Given the description of an element on the screen output the (x, y) to click on. 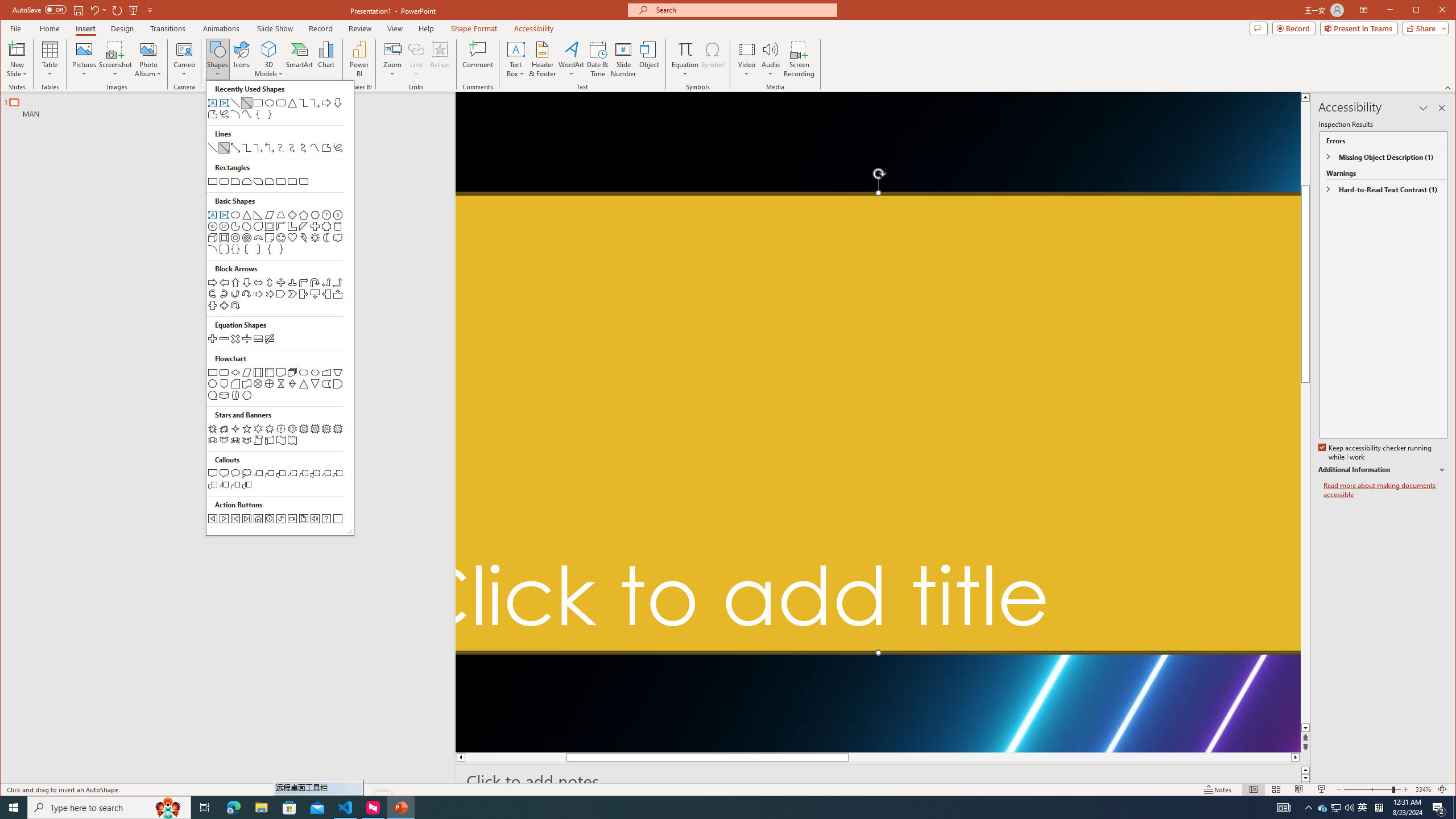
Start (13, 807)
SmartArt... (299, 59)
Running applications (700, 807)
User Promoted Notification Area (1336, 807)
Video (746, 59)
WordArt (571, 59)
3D Models (269, 59)
Read more about making documents accessible (1385, 489)
